Given the description of an element on the screen output the (x, y) to click on. 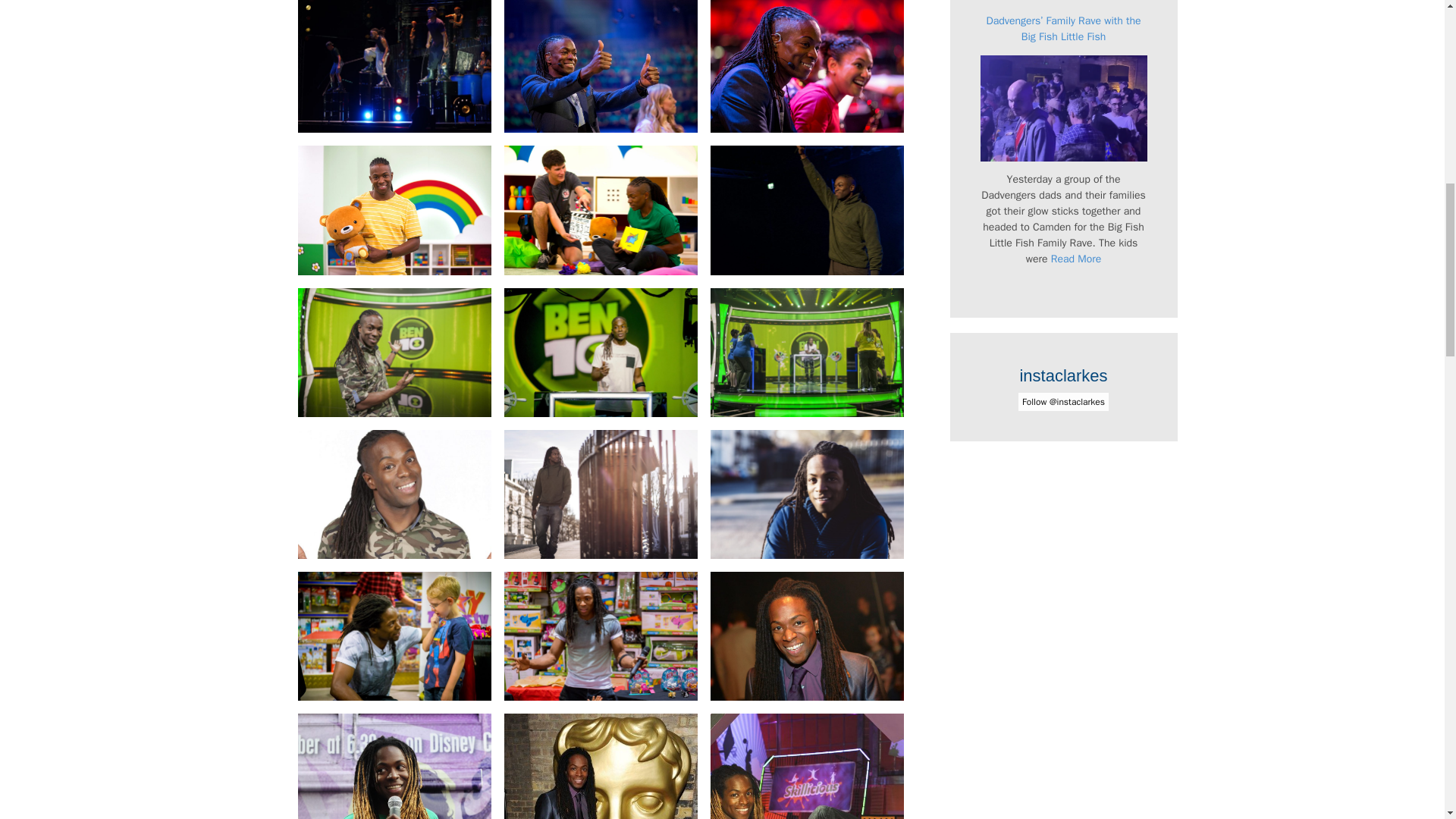
Read more (1076, 258)
